Given the description of an element on the screen output the (x, y) to click on. 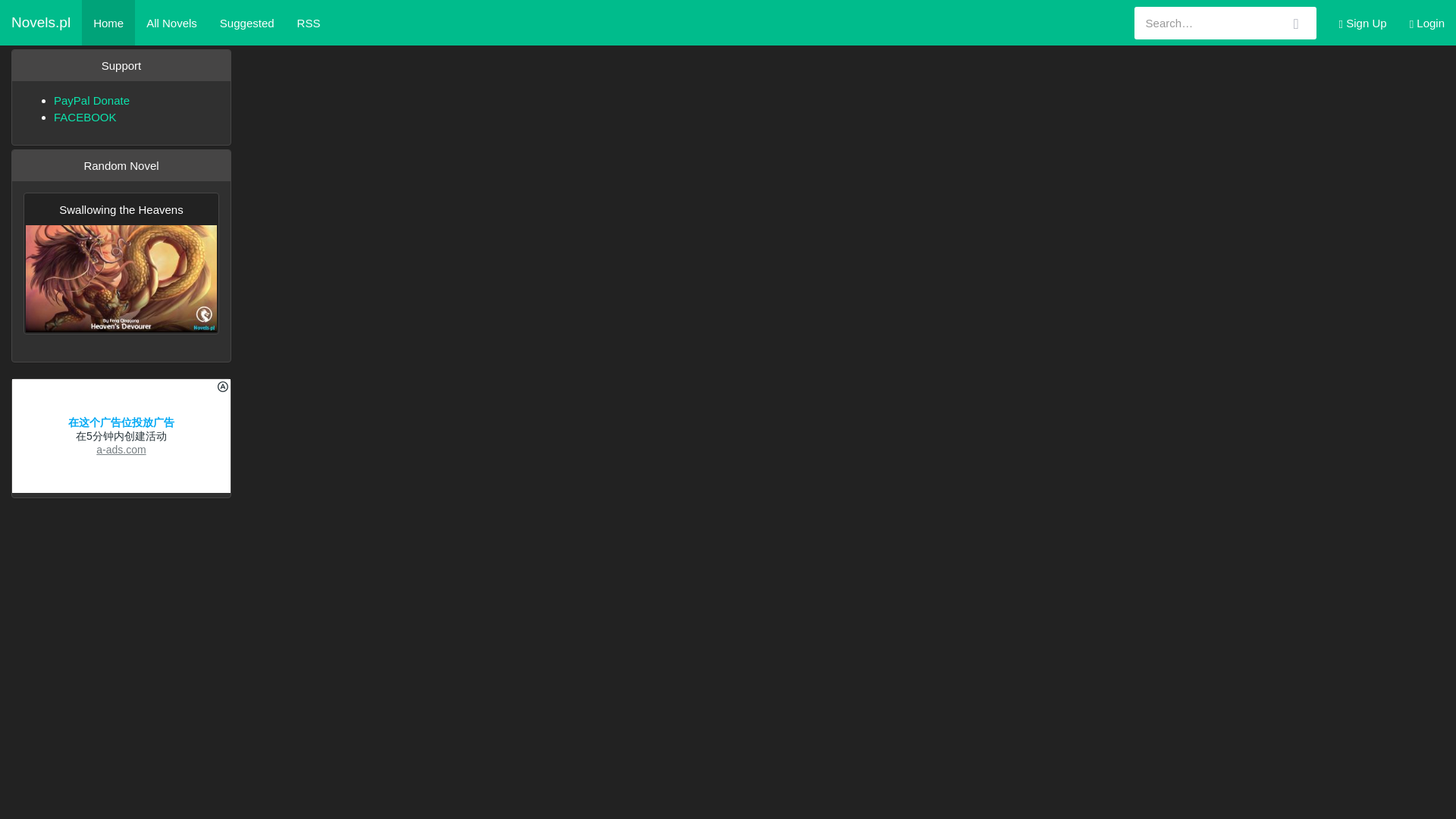
FACEBOOK (84, 116)
Swallowing the Heavens (121, 263)
PayPal Donate (91, 100)
Sign Up (1362, 22)
All Novels (171, 22)
Swallowing the Heavens (121, 263)
Suggested (246, 22)
Home (108, 22)
Novels.pl (40, 22)
RSS (308, 22)
